Given the description of an element on the screen output the (x, y) to click on. 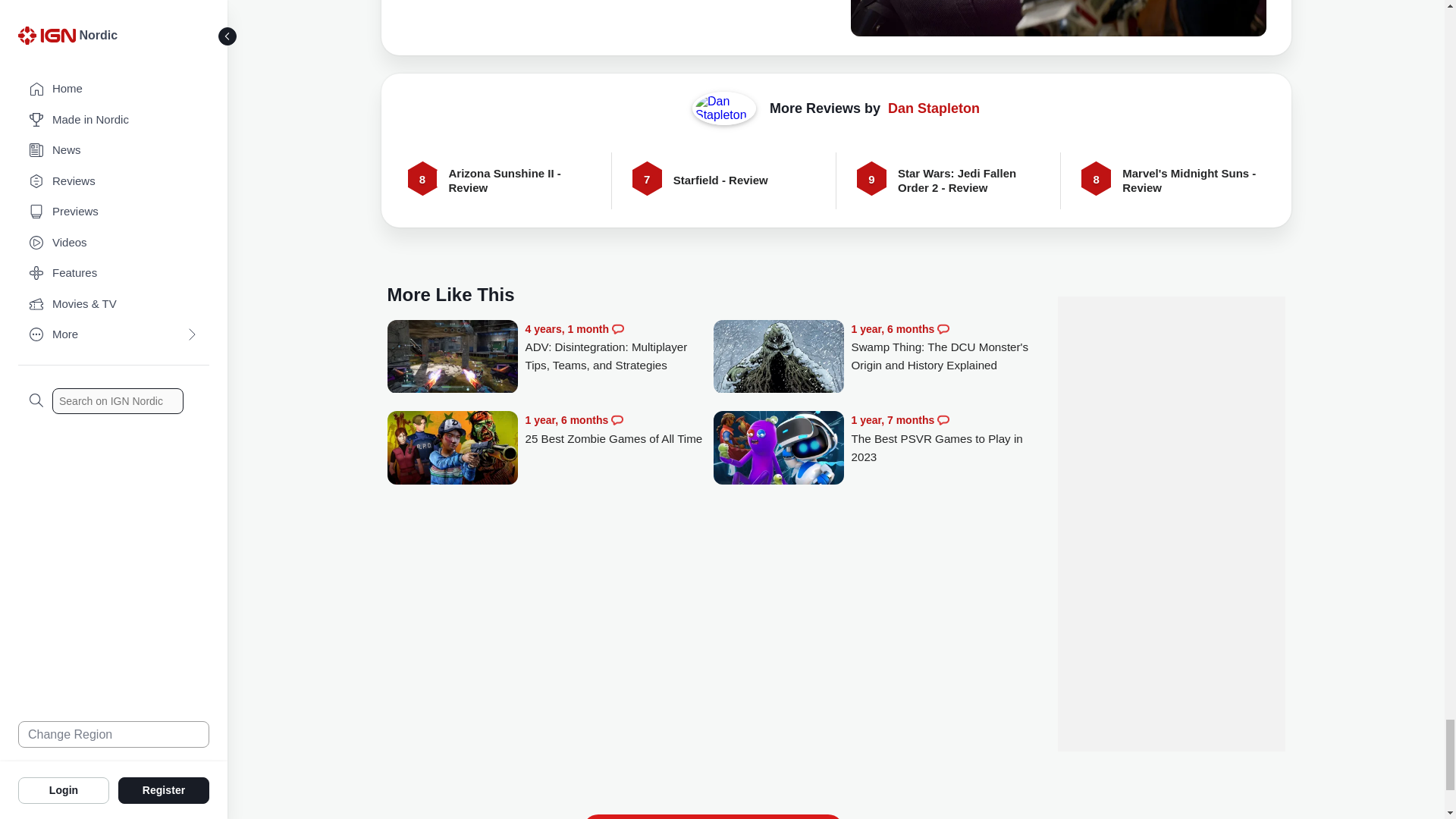
25 Best Zombie Games of All Time (451, 449)
Swamp Thing: The DCU Monster's Origin and History Explained (944, 347)
ADV: Disintegration: Multiplayer Tips, Teams, and Strategies (451, 365)
Comments (943, 328)
Comments (617, 328)
ADV: Disintegration: Multiplayer Tips, Teams, and Strategies (618, 347)
Swamp Thing: The DCU Monster's Origin and History Explained (778, 358)
The Best PSVR Games to Play in 2023 (944, 438)
25 Best Zombie Games of All Time (618, 429)
The Best PSVR Games to Play in 2023 (778, 449)
